Given the description of an element on the screen output the (x, y) to click on. 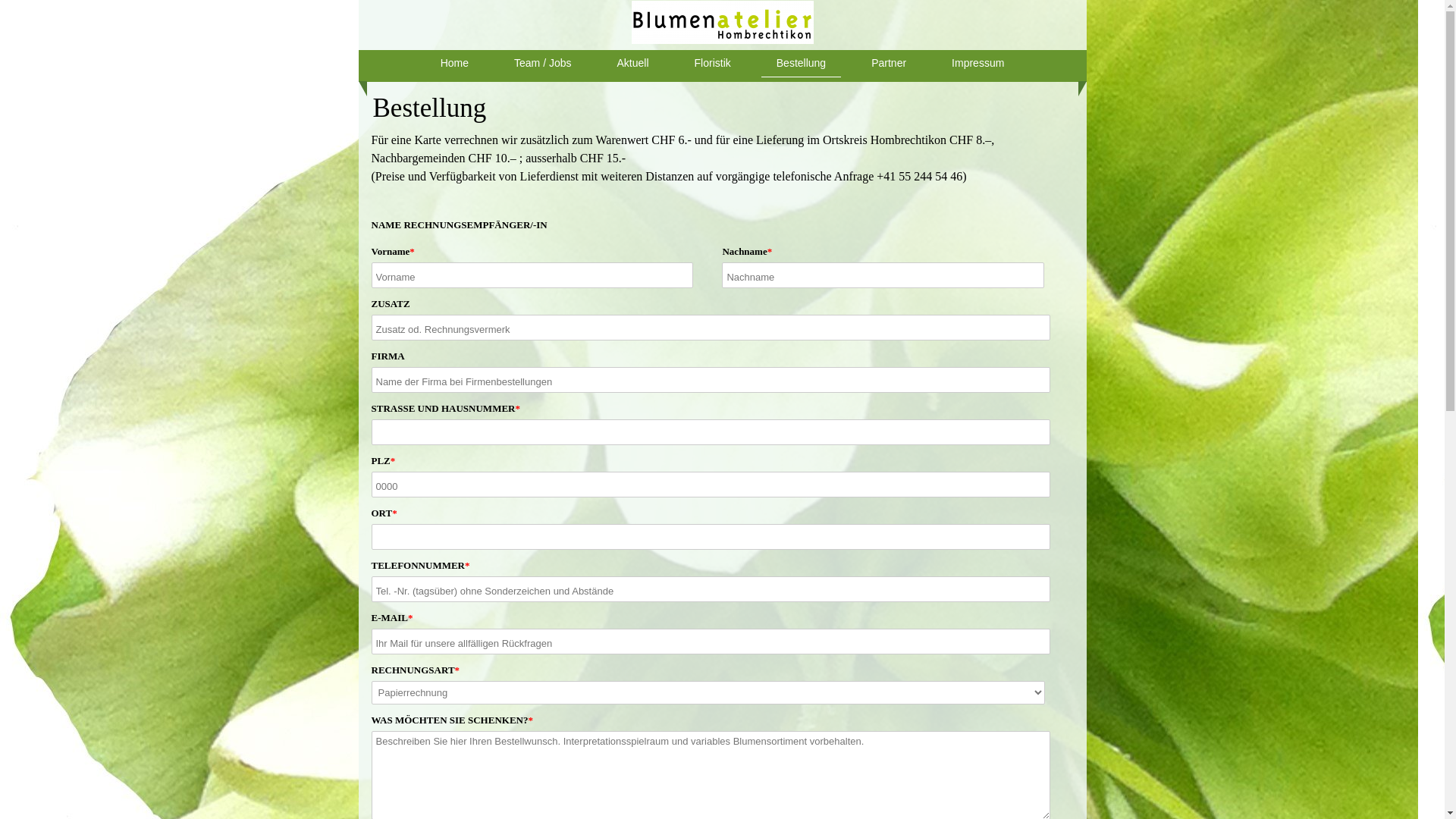
Team / Jobs Element type: text (542, 63)
Partner Element type: text (888, 63)
Floristik Element type: text (712, 63)
Bestellung Element type: text (800, 63)
Aktuell Element type: text (633, 63)
Home Element type: text (454, 63)
Impressum Element type: text (977, 63)
